Given the description of an element on the screen output the (x, y) to click on. 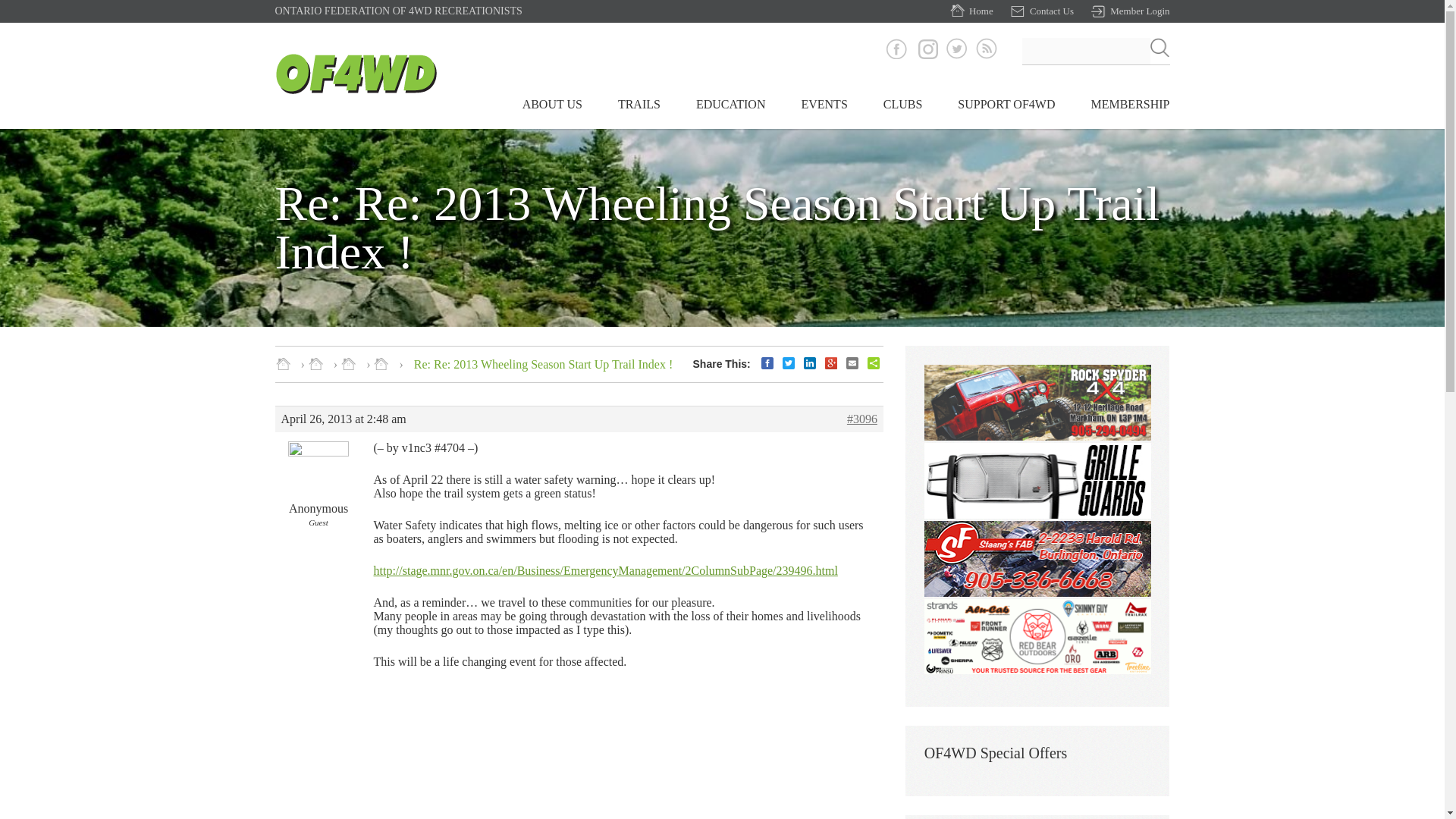
TRAILS (639, 111)
Facebook (896, 47)
Member Login (1129, 11)
RSS (986, 47)
Home (971, 11)
Home (356, 91)
Contact Us (1042, 11)
ABOUT US (552, 111)
Twitter (957, 47)
EDUCATION (730, 111)
Instagram (927, 49)
